Given the description of an element on the screen output the (x, y) to click on. 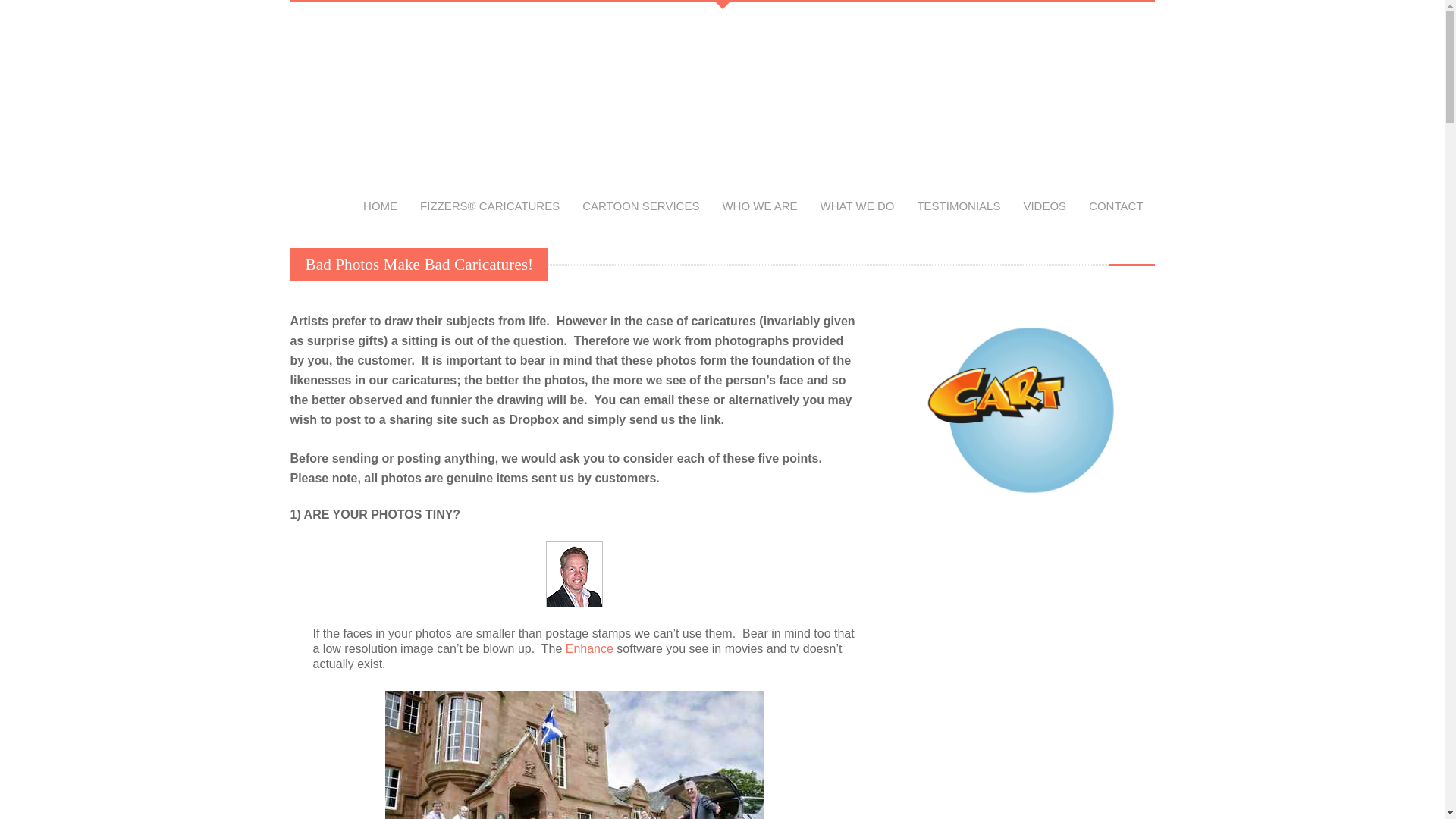
CARTOON SERVICES (640, 206)
WHO WE ARE (759, 206)
CONTACT (1115, 206)
SCOTTISH CARTOON ART STUDIO, GLASGOW (373, 107)
HOME (380, 206)
WHAT WE DO (857, 206)
TESTIMONIALS (958, 206)
VIDEOS (1044, 206)
Enhance (589, 648)
